Given the description of an element on the screen output the (x, y) to click on. 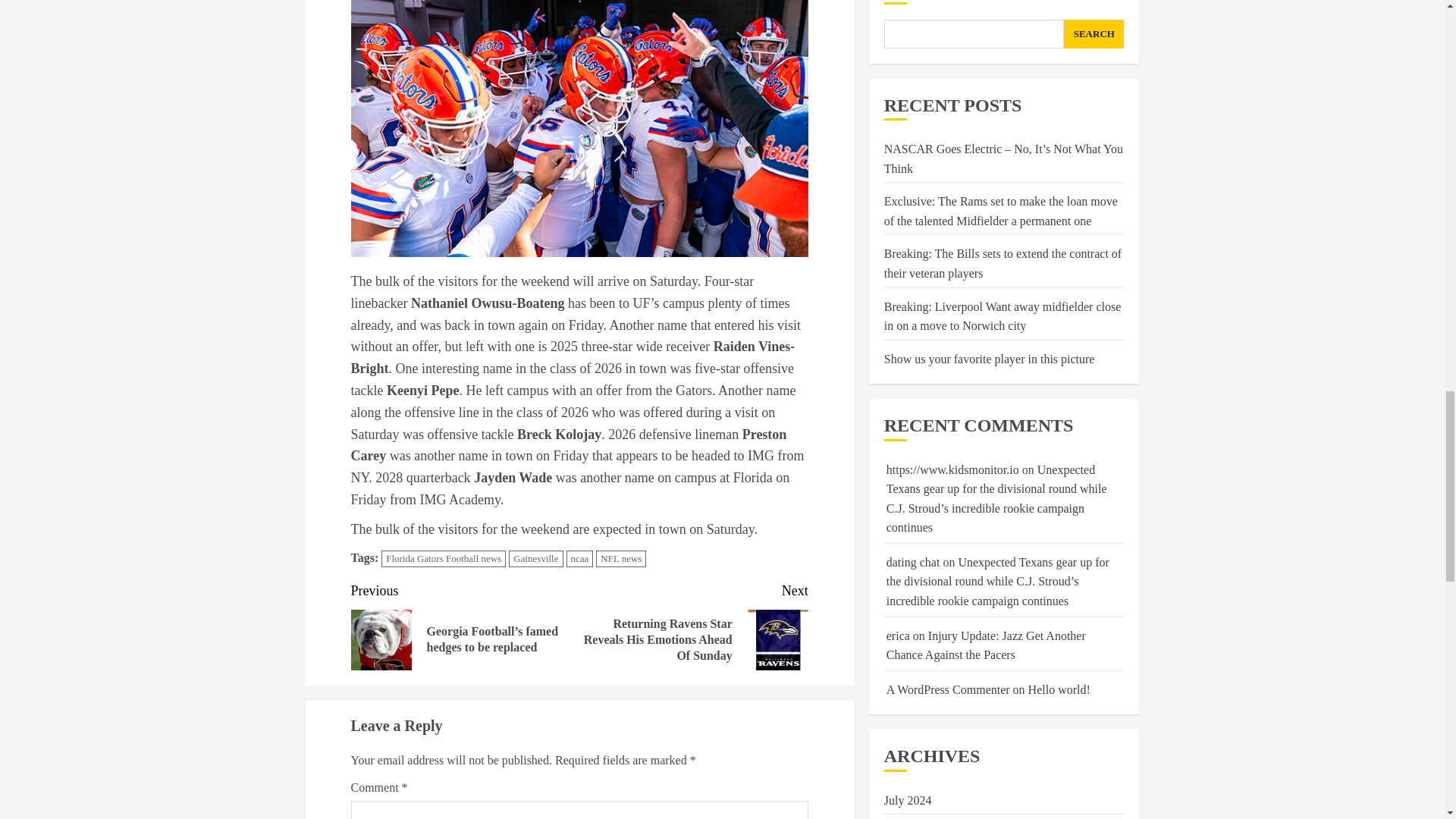
NFL news (620, 559)
ncaa (579, 559)
Gainesville (535, 559)
Florida Gators Football news (443, 559)
